Given the description of an element on the screen output the (x, y) to click on. 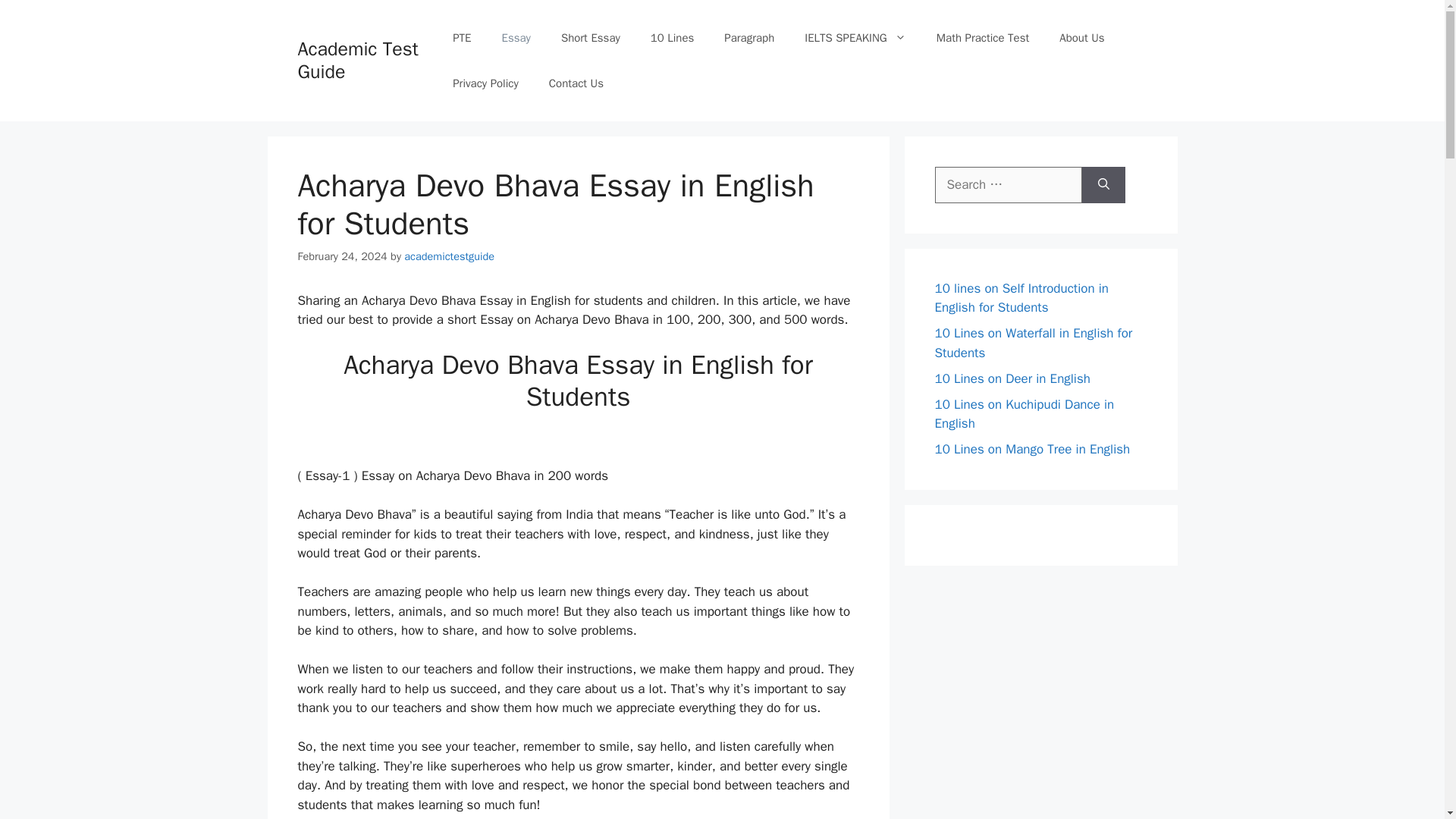
Contact Us (576, 83)
Privacy Policy (486, 83)
IELTS SPEAKING (855, 37)
Short Essay (590, 37)
Paragraph (749, 37)
10 lines on Self Introduction in English for Students (1021, 298)
Search for: (1007, 185)
10 Lines on Kuchipudi Dance in English (1023, 413)
About Us (1081, 37)
PTE (462, 37)
academictestguide (449, 255)
View all posts by academictestguide (449, 255)
Academic Test Guide (357, 59)
10 Lines on Mango Tree in English (1031, 449)
Essay (516, 37)
